Given the description of an element on the screen output the (x, y) to click on. 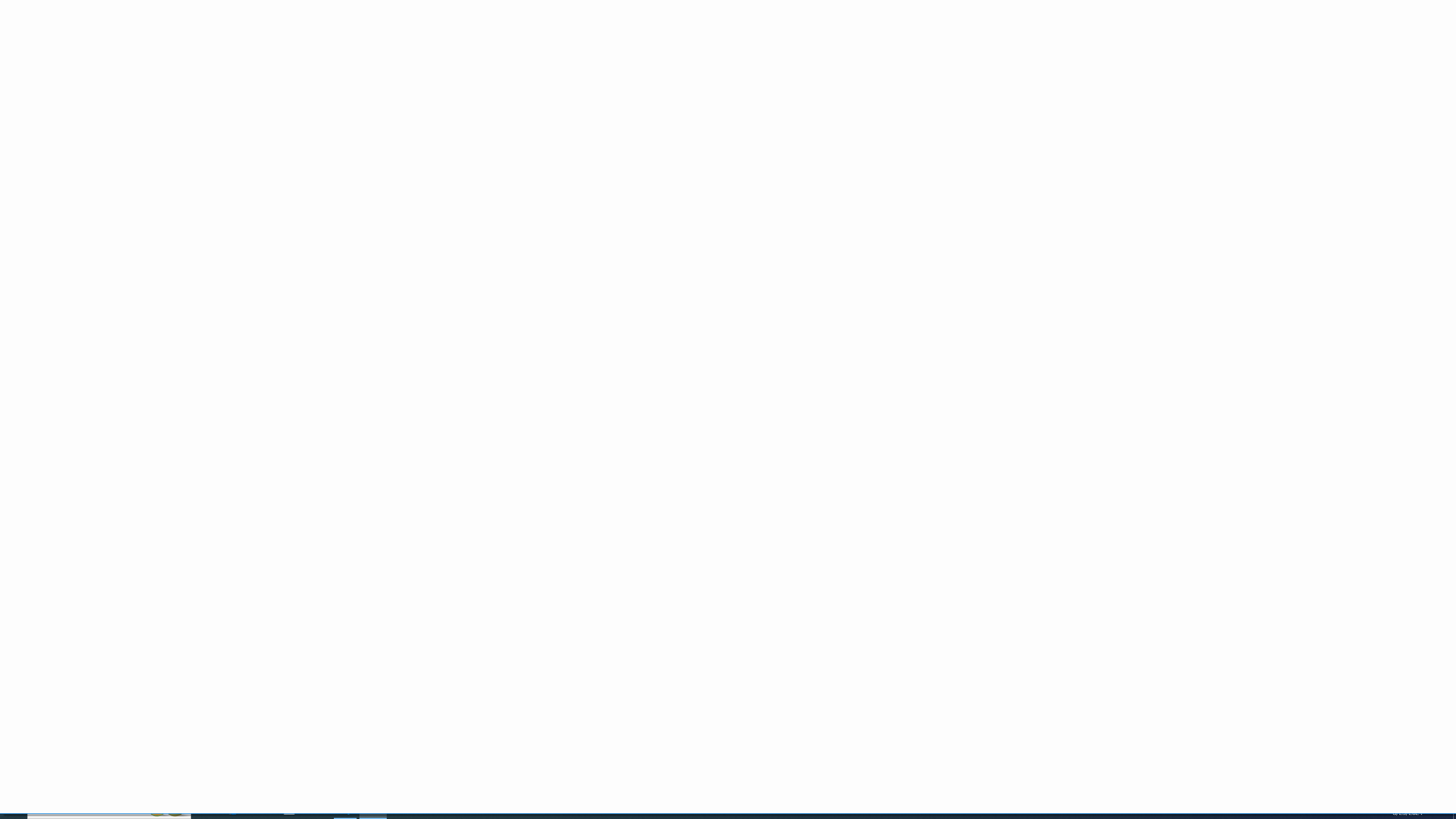
Delete Cells... (938, 48)
Percent Style (443, 67)
Font (147, 49)
Linked Cell (791, 65)
Insert Cells (914, 48)
Accounting Number Format (422, 67)
Format Cell Font (247, 85)
Fill (999, 56)
Wrap Text (355, 49)
Decrease Decimal (489, 67)
